Given the description of an element on the screen output the (x, y) to click on. 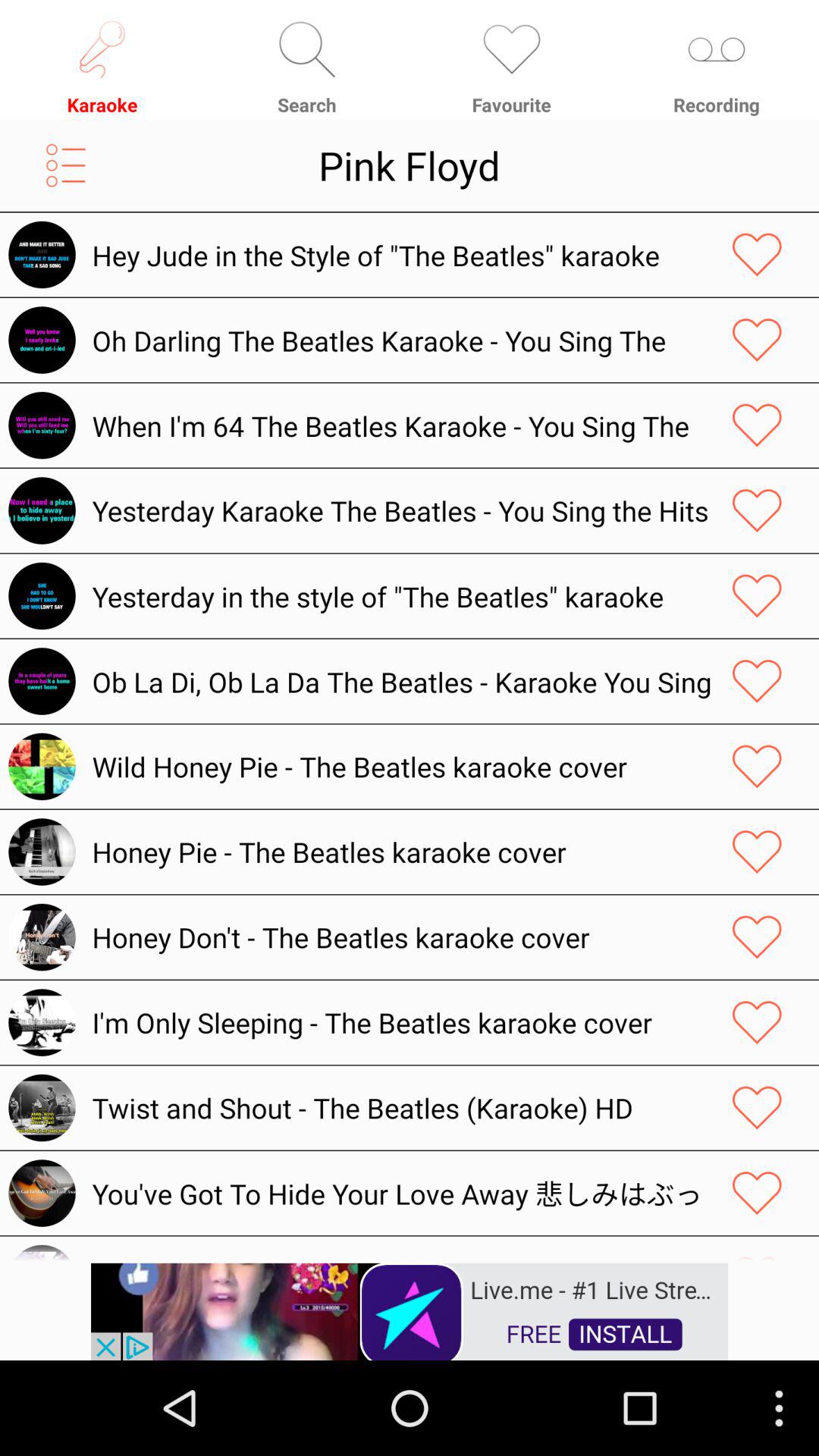
love track (756, 937)
